Given the description of an element on the screen output the (x, y) to click on. 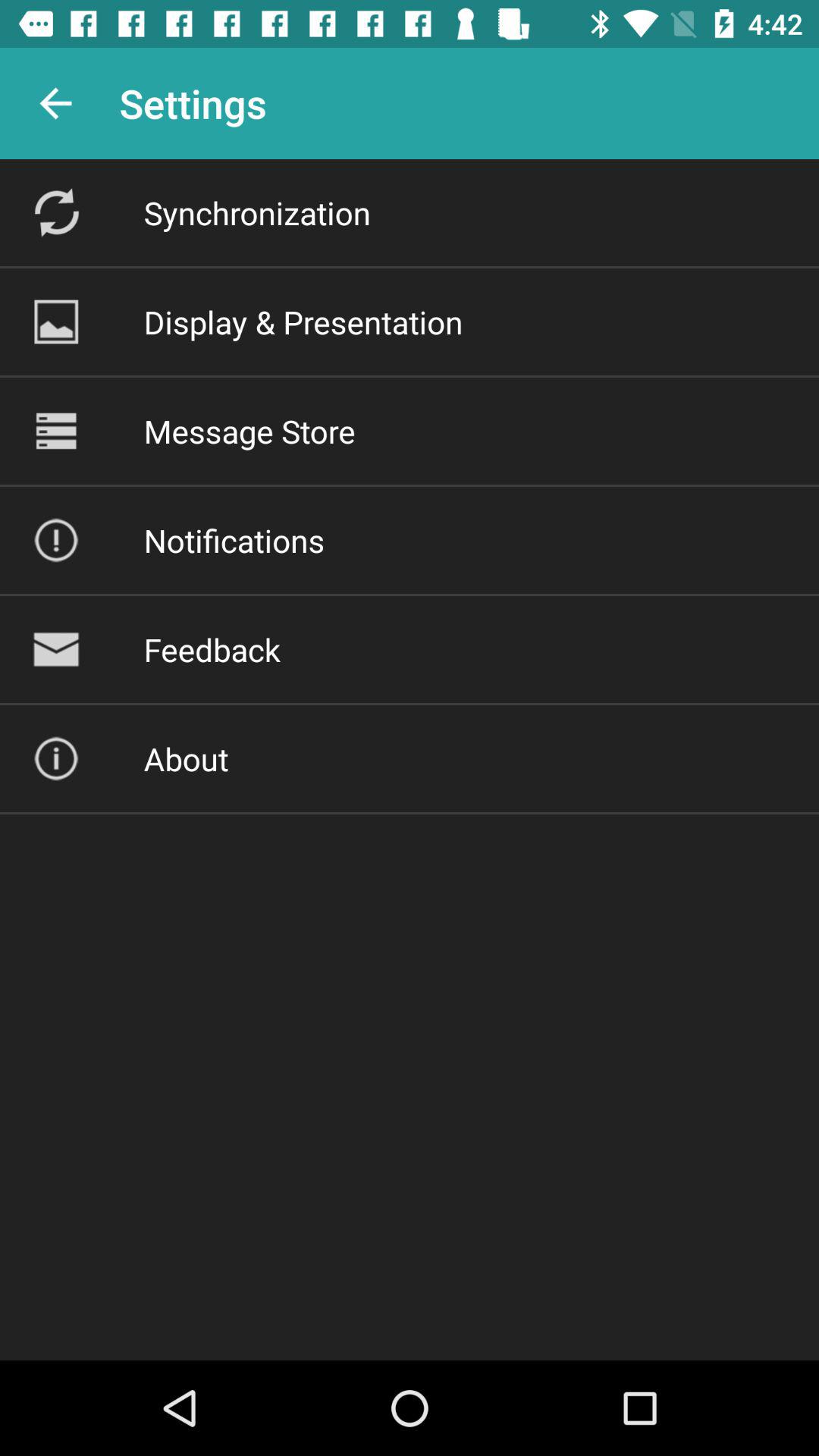
launch icon above the feedback item (233, 539)
